Given the description of an element on the screen output the (x, y) to click on. 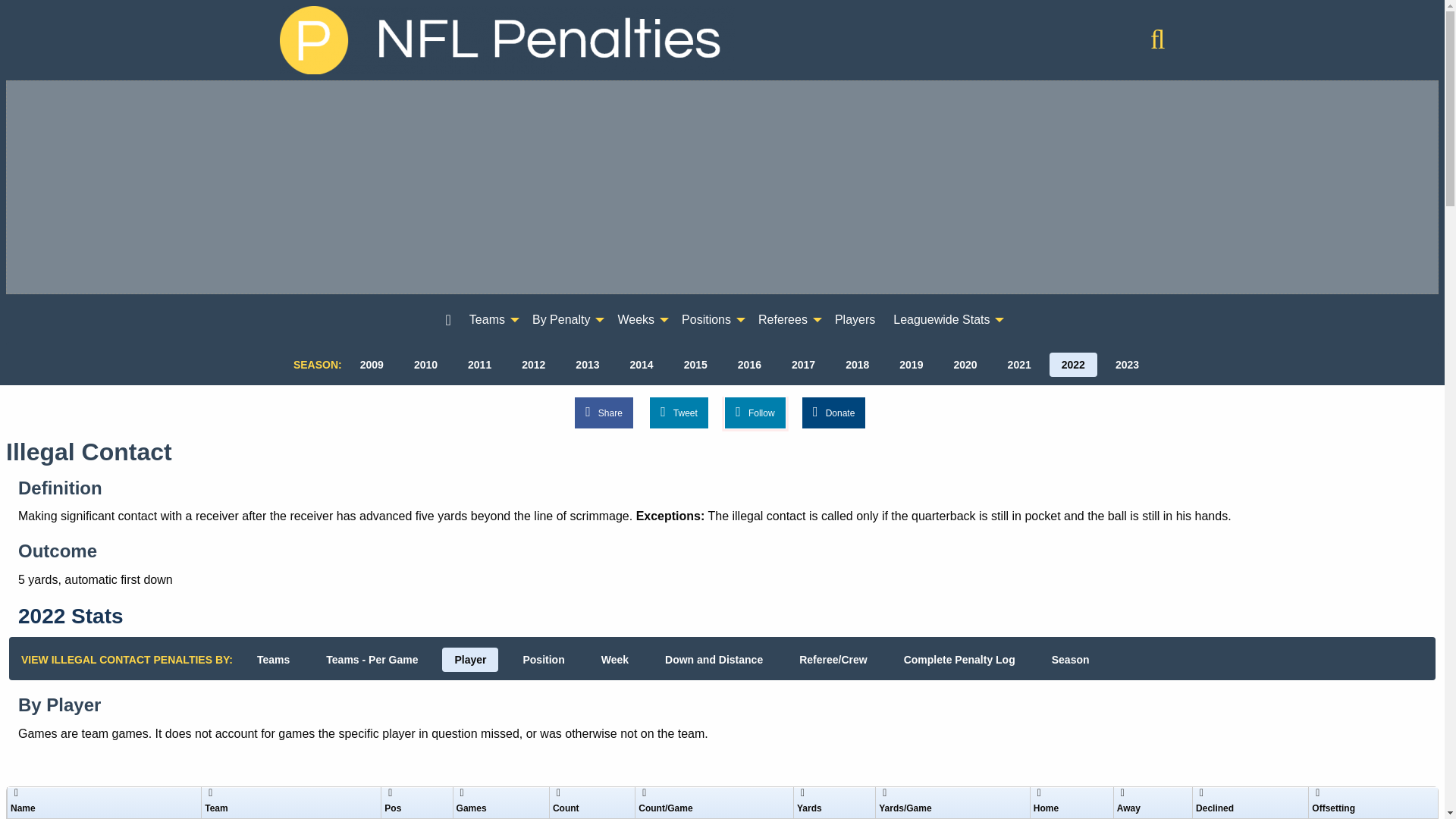
Teams (491, 320)
Home (1157, 43)
Change Season To 2015 (695, 364)
Change Season To 2016 (749, 364)
Change Season To 2021 (1019, 364)
Change Season To 2017 (802, 364)
Change Season To 2023 (1127, 364)
Change Season To 2022 (1073, 364)
Change Season To 2019 (910, 364)
NFL Penalty Tracker (506, 39)
Change Season To 2011 (479, 364)
Change Season To 2012 (533, 364)
Change Season To 2018 (856, 364)
Change Season To 2010 (425, 364)
